Given the description of an element on the screen output the (x, y) to click on. 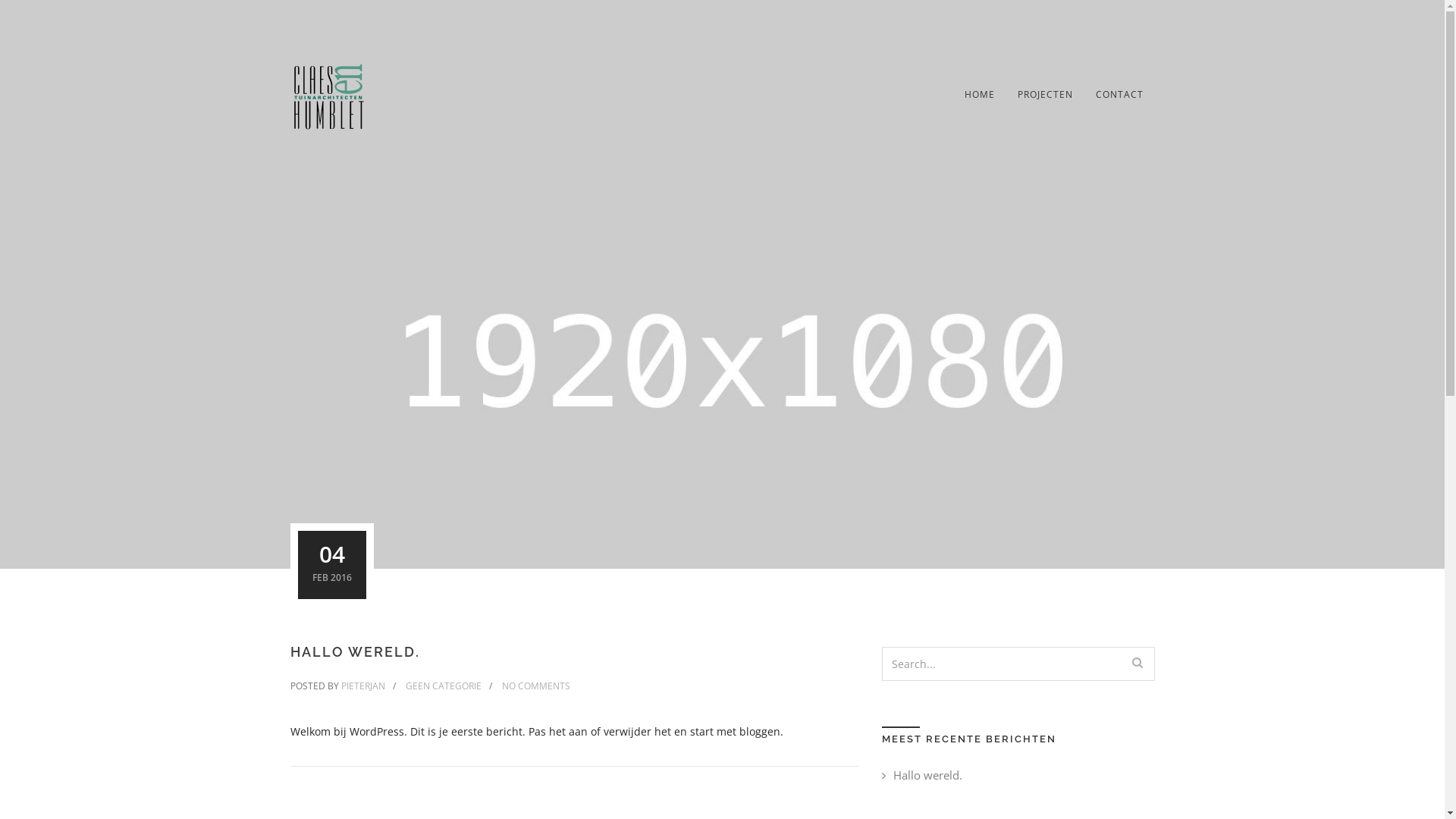
PIETERJAN Element type: text (363, 685)
Hallo wereld. Element type: text (921, 774)
HOME Element type: text (978, 94)
GEEN CATEGORIE Element type: text (442, 685)
Search... Element type: hover (1136, 662)
PROJECTEN Element type: text (1044, 94)
NO COMMENTS Element type: text (536, 685)
Skip to content Element type: text (0, 0)
CONTACT Element type: text (1119, 94)
